Given the description of an element on the screen output the (x, y) to click on. 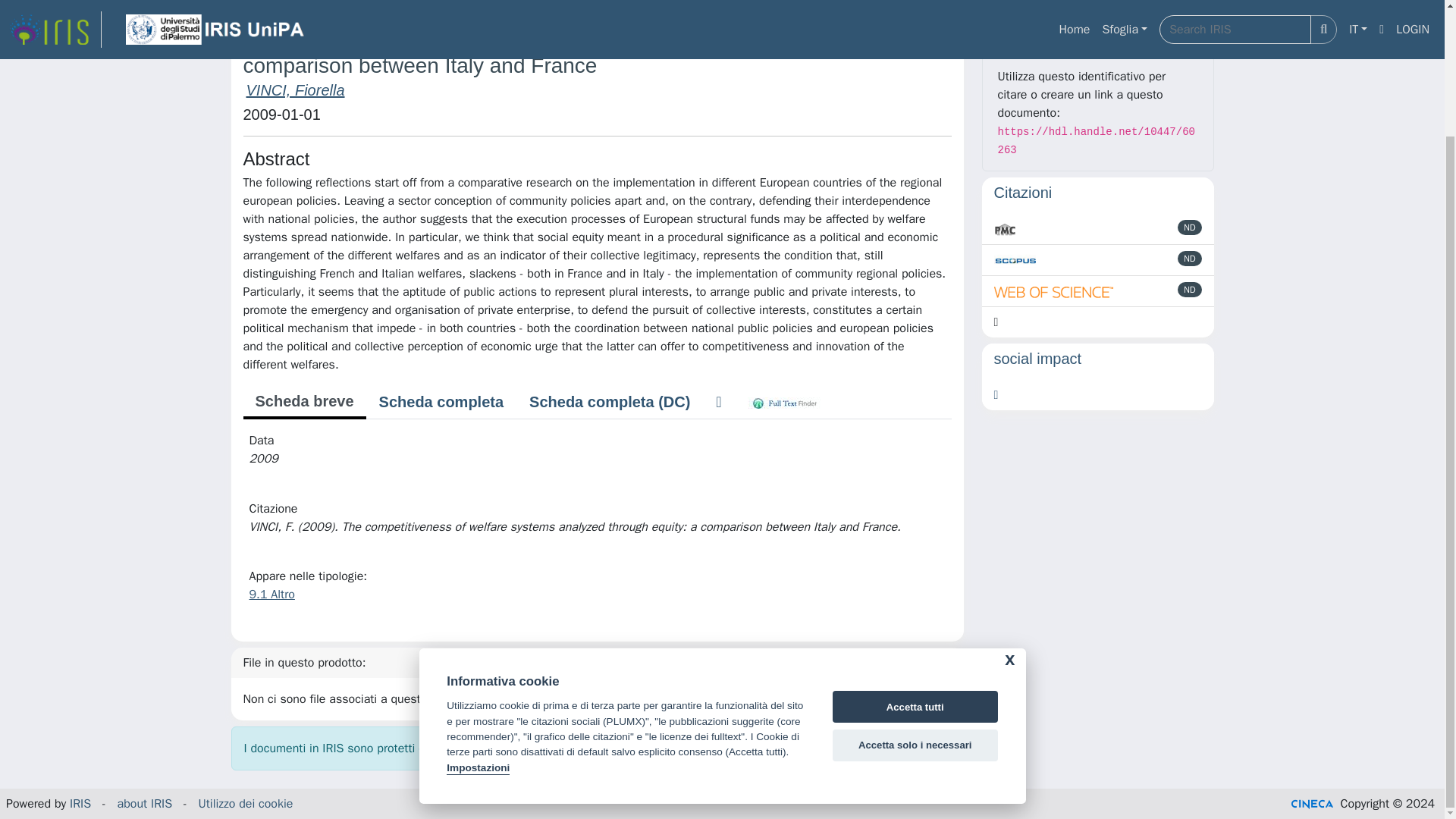
9.1 Altro (488, 0)
 Informazioni (1097, 35)
9.1 Altro (271, 594)
Scheda completa (441, 401)
Scheda breve (304, 402)
VINCI, Fiorella (294, 89)
09 - Altro (421, 0)
Prodotti della ricerca (325, 0)
IRIS (240, 0)
